Given the description of an element on the screen output the (x, y) to click on. 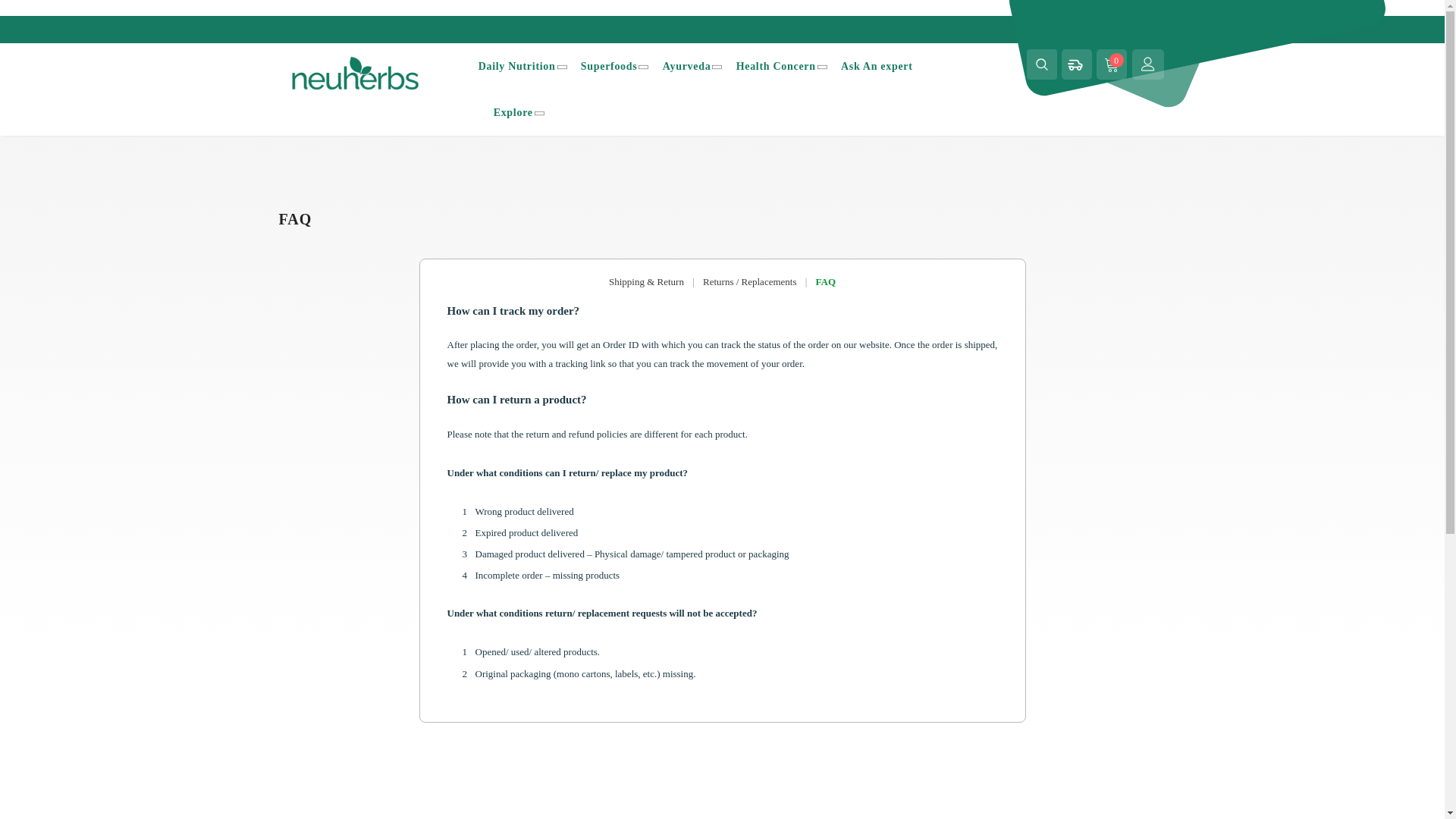
Daily Nutrition (517, 66)
Cart Icon (1111, 64)
Logo (367, 72)
Trak Order (1073, 63)
